Given the description of an element on the screen output the (x, y) to click on. 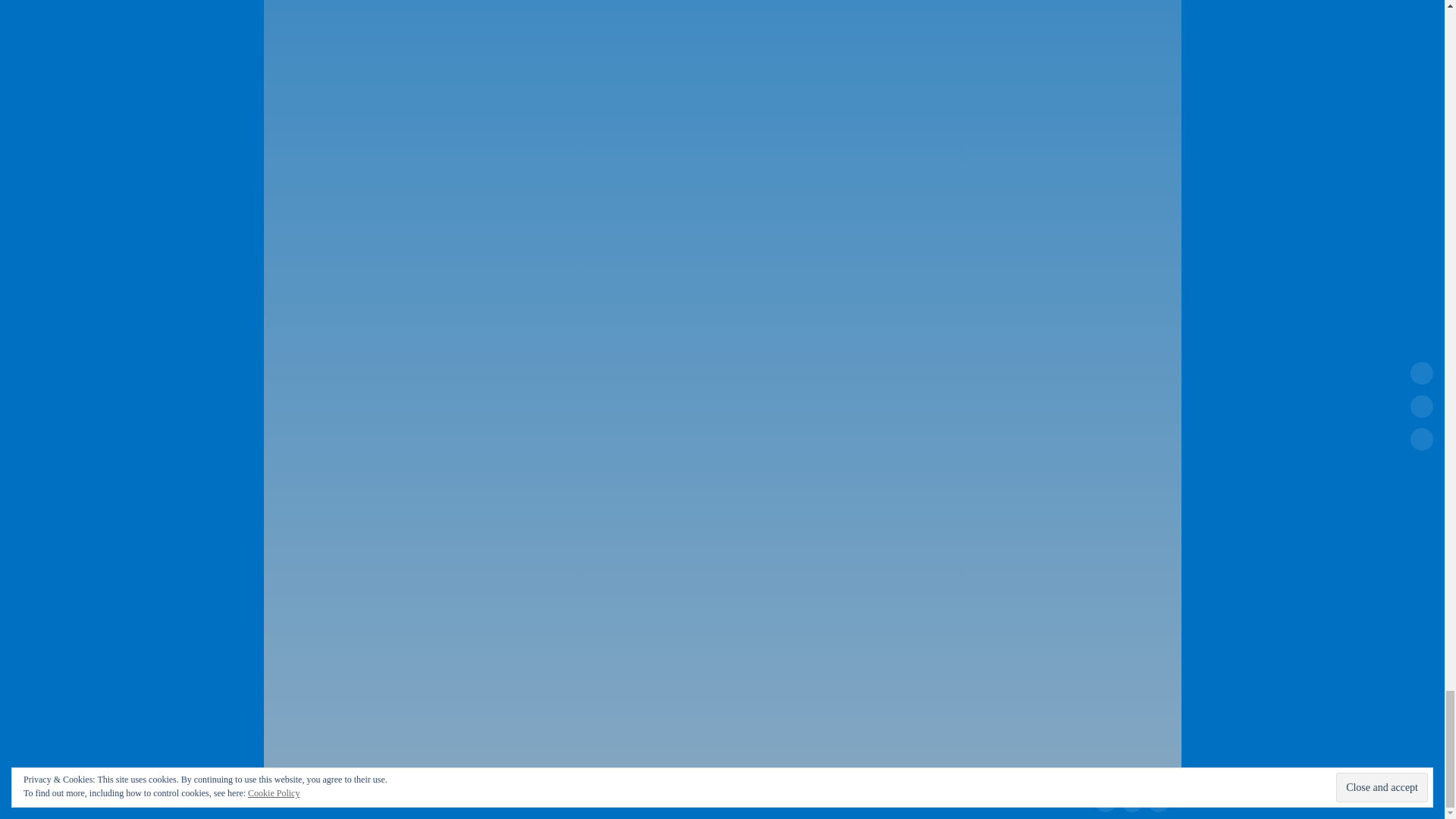
Semantic Personal Publishing Platform (893, 775)
Mantra Theme by Cryout Creations (837, 775)
